Given the description of an element on the screen output the (x, y) to click on. 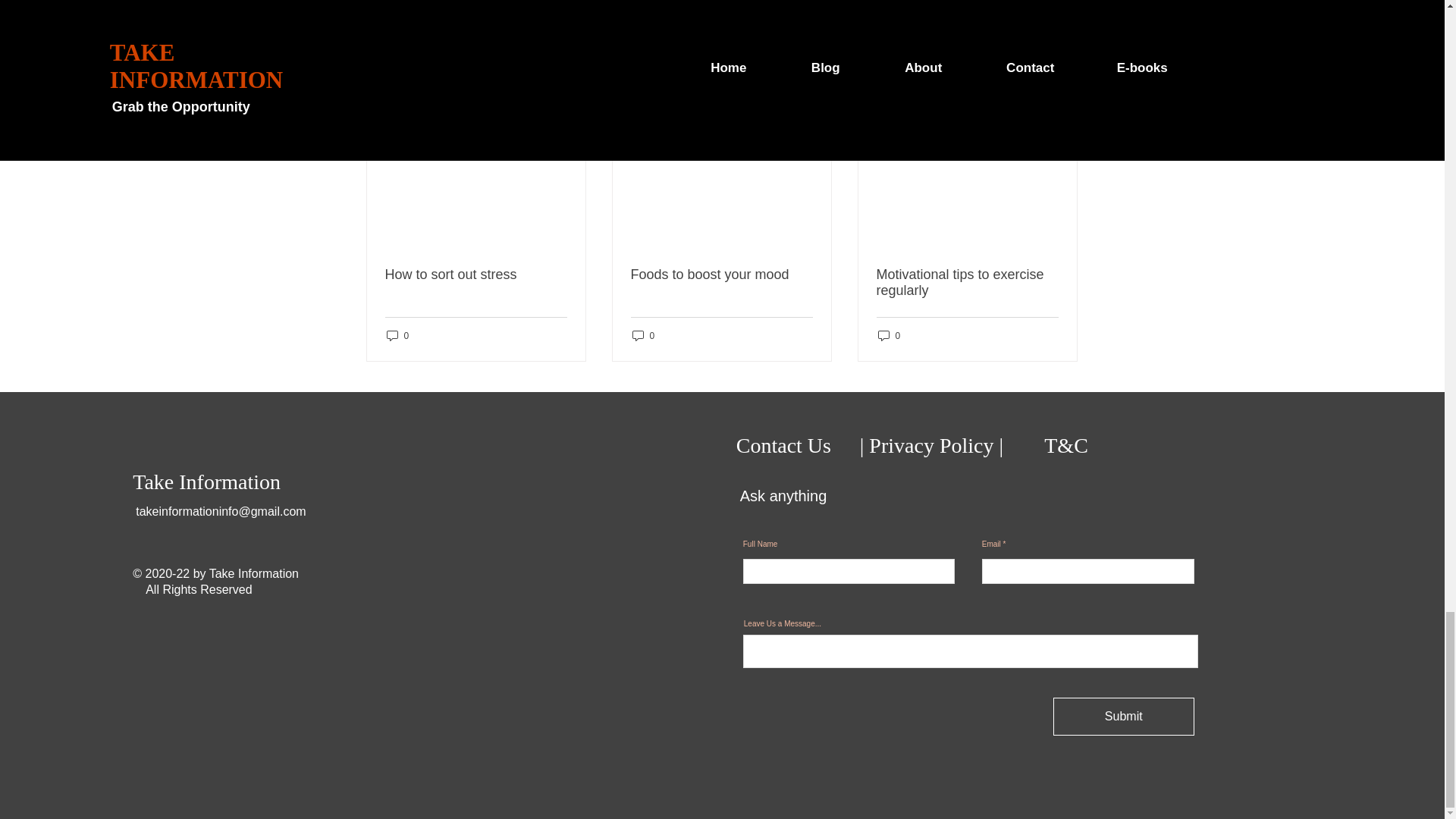
Foods to boost your mood (721, 274)
How to sort out stress (476, 274)
Motivational tips to exercise regularly (967, 282)
0 (397, 335)
See All (1061, 98)
Submit (1122, 716)
0 (889, 335)
0 (643, 335)
